Given the description of an element on the screen output the (x, y) to click on. 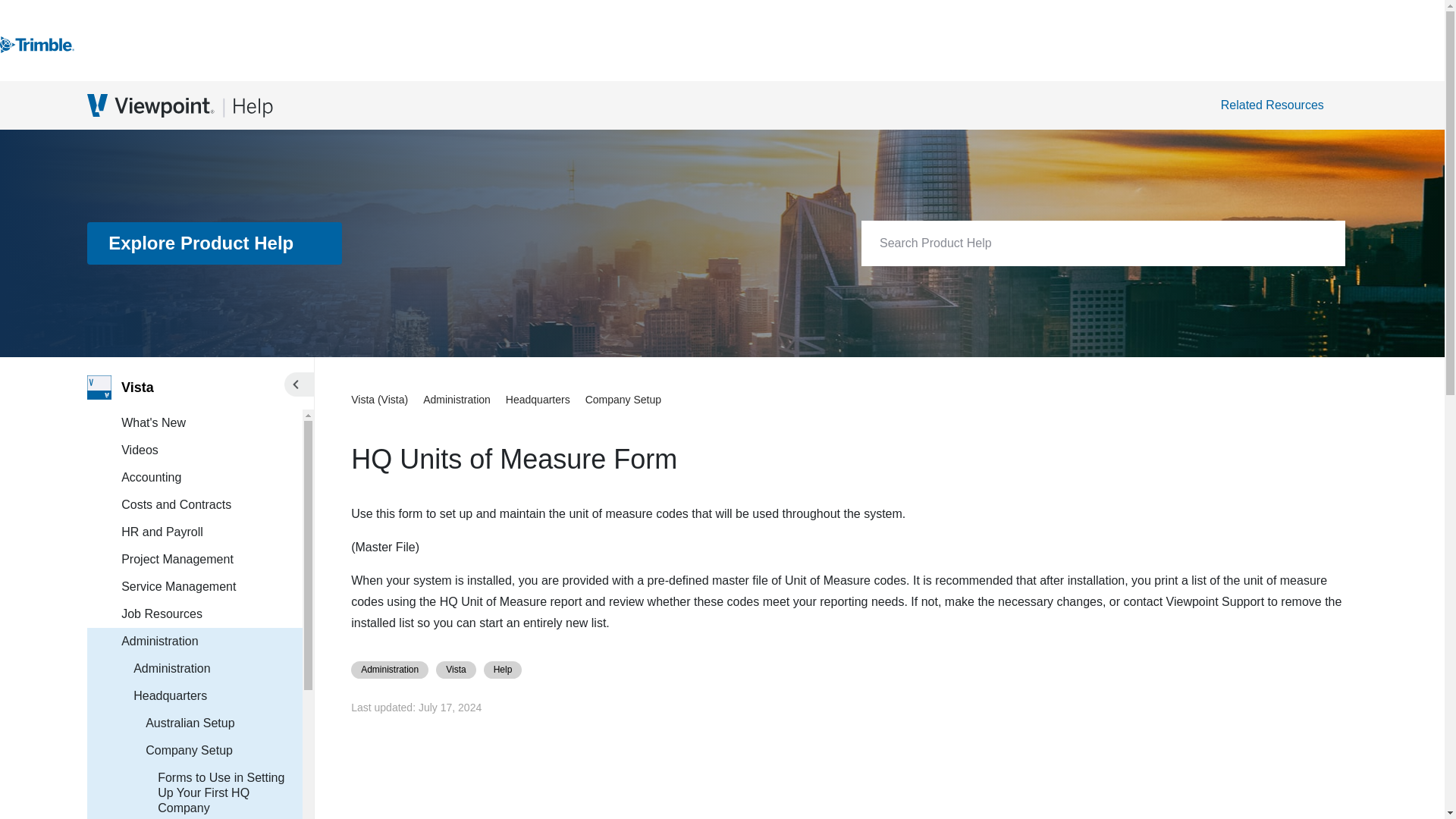
Explore Product Help (214, 242)
What's New (211, 422)
Videos (211, 450)
Related Resources (1279, 104)
